Given the description of an element on the screen output the (x, y) to click on. 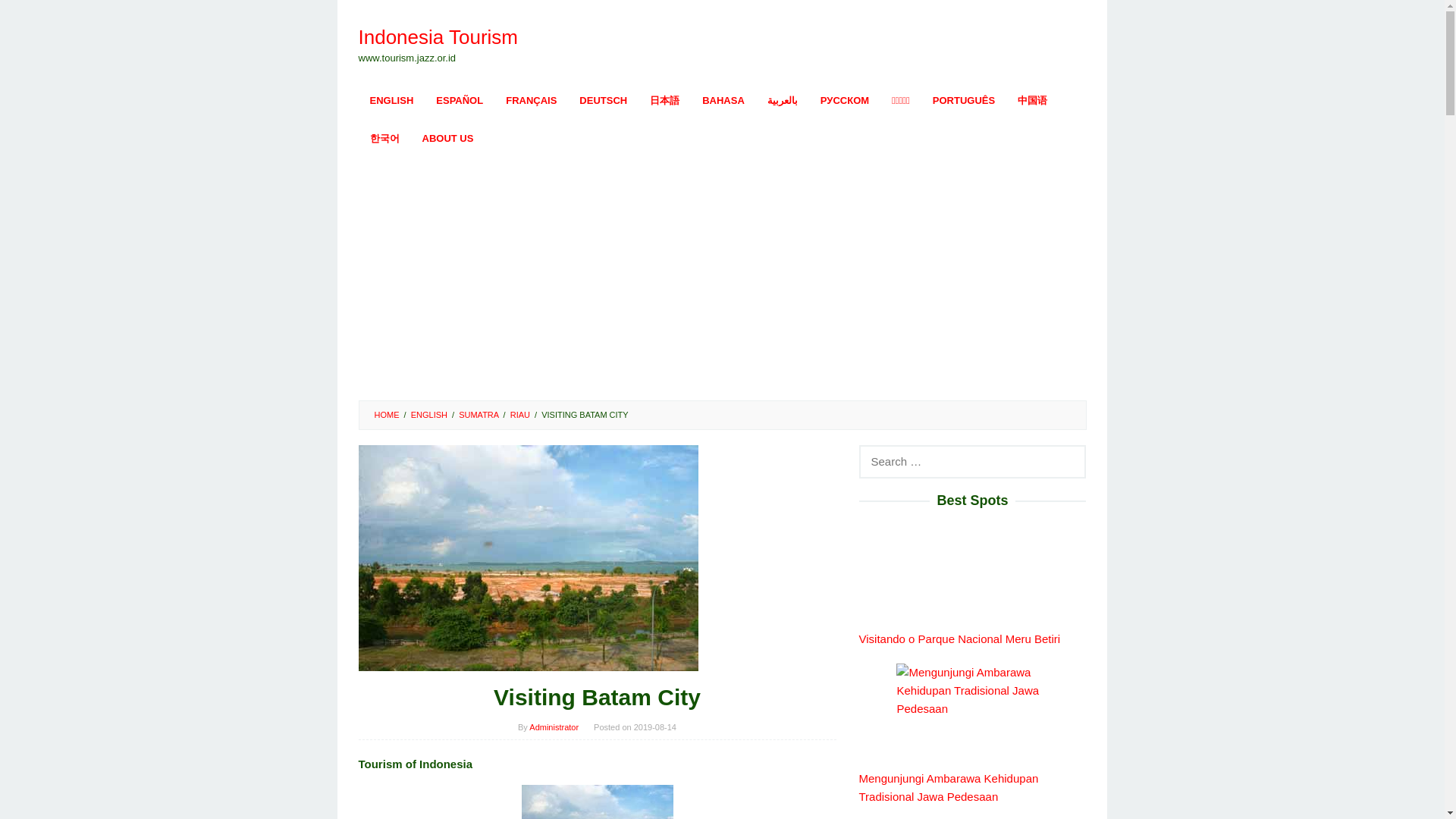
Indonesia Tourism (438, 36)
Administrator (553, 727)
ENGLISH (391, 100)
DEUTSCH (603, 100)
RIAU (520, 414)
ABOUT US (447, 138)
Indonesia Tourism (438, 36)
ENGLISH (428, 414)
HOME (386, 414)
SUMATRA (477, 414)
